Given the description of an element on the screen output the (x, y) to click on. 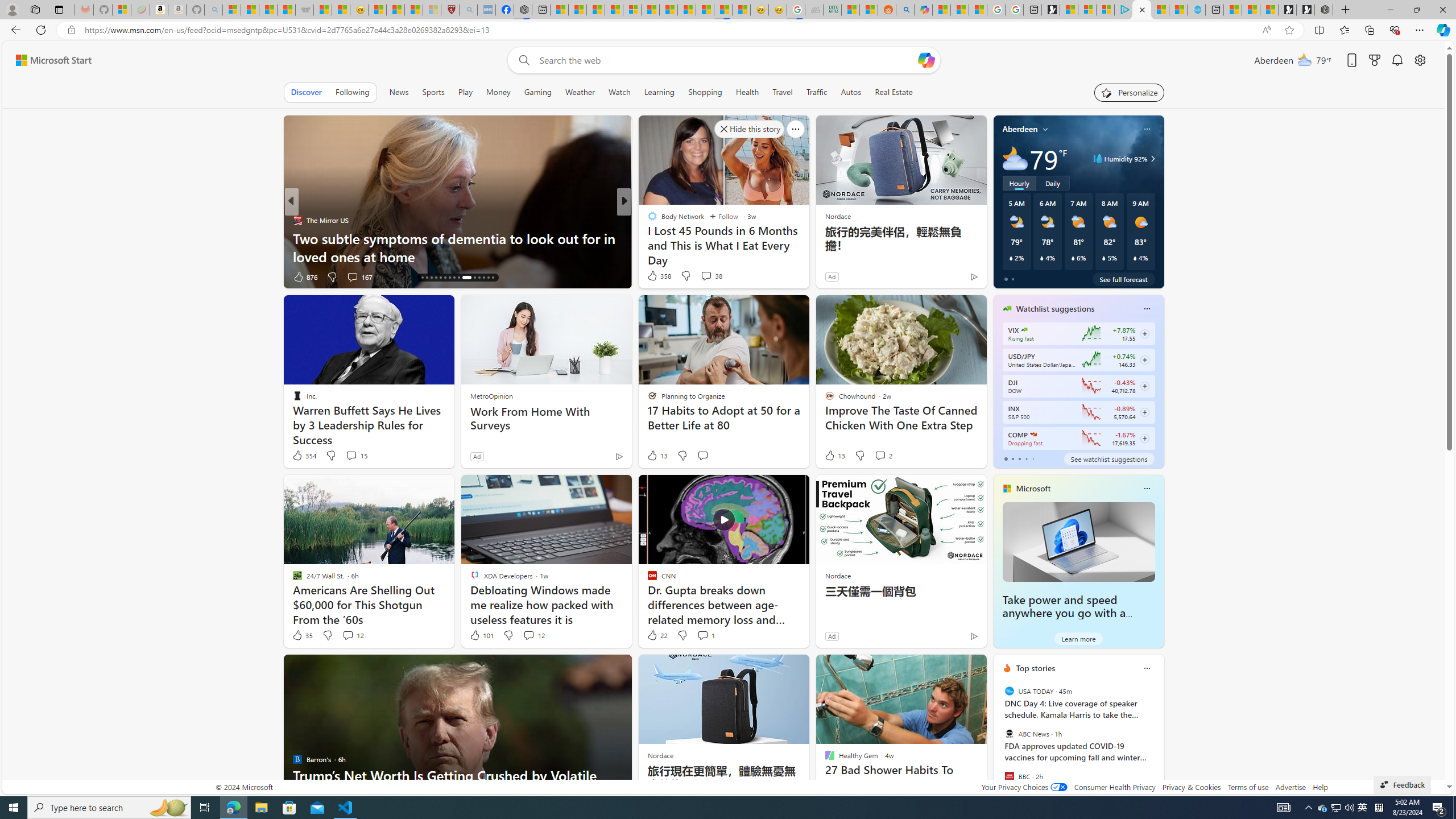
Science - MSN (414, 9)
Learn more (1078, 638)
View comments 5 Comment (698, 276)
View comments 15 Comment (355, 455)
22 Like (657, 634)
Health (746, 92)
AutomationID: tab-17 (426, 277)
Travel (782, 92)
13 Like (834, 455)
Open Copilot (926, 59)
Sports (432, 92)
